Given the description of an element on the screen output the (x, y) to click on. 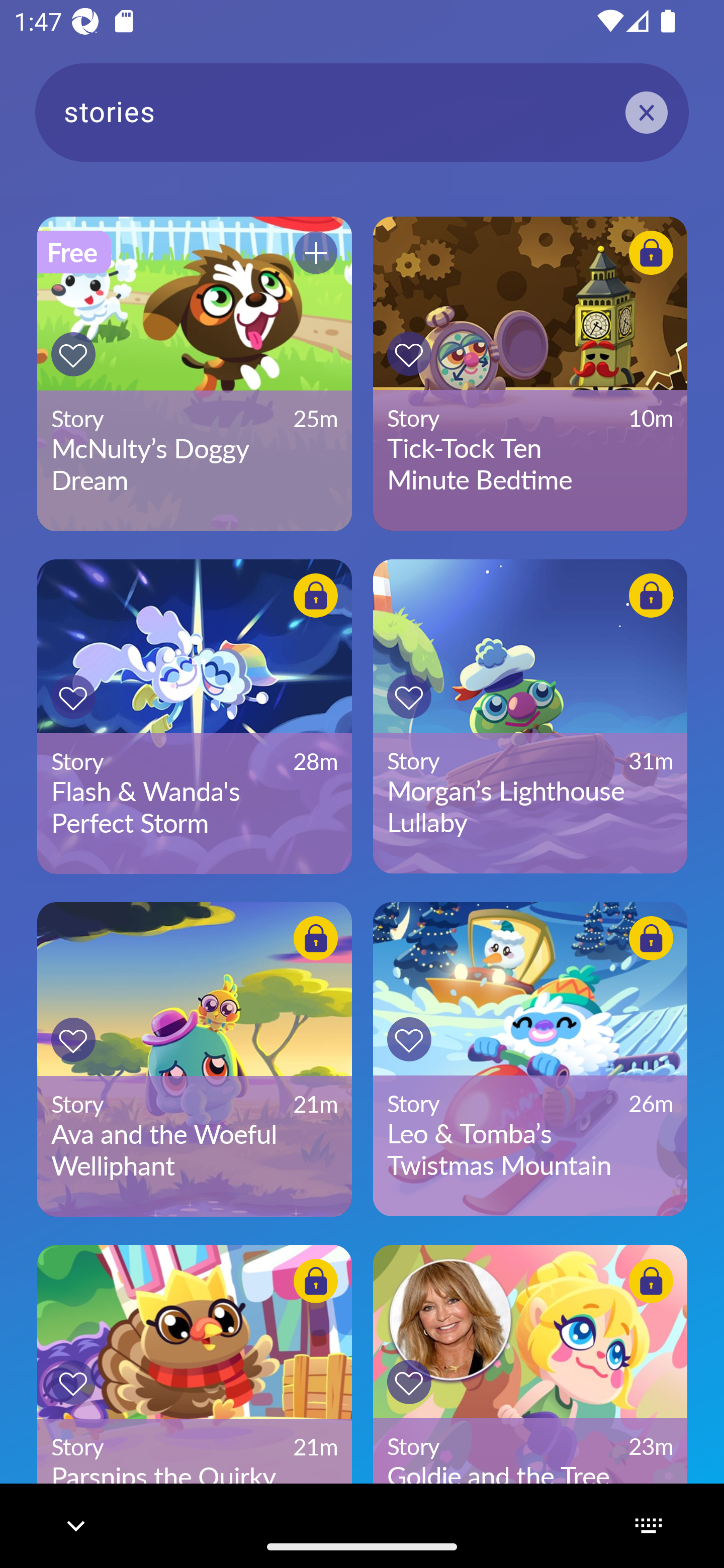
stories (361, 111)
Button (315, 252)
Button (650, 252)
Button (409, 354)
Button (73, 354)
Button (315, 595)
Button (650, 595)
Button (409, 695)
Button (73, 696)
Button (315, 937)
Button (650, 937)
Button (409, 1039)
Button (73, 1039)
Button (315, 1280)
Button (650, 1280)
Button (409, 1381)
Button (73, 1382)
